Given the description of an element on the screen output the (x, y) to click on. 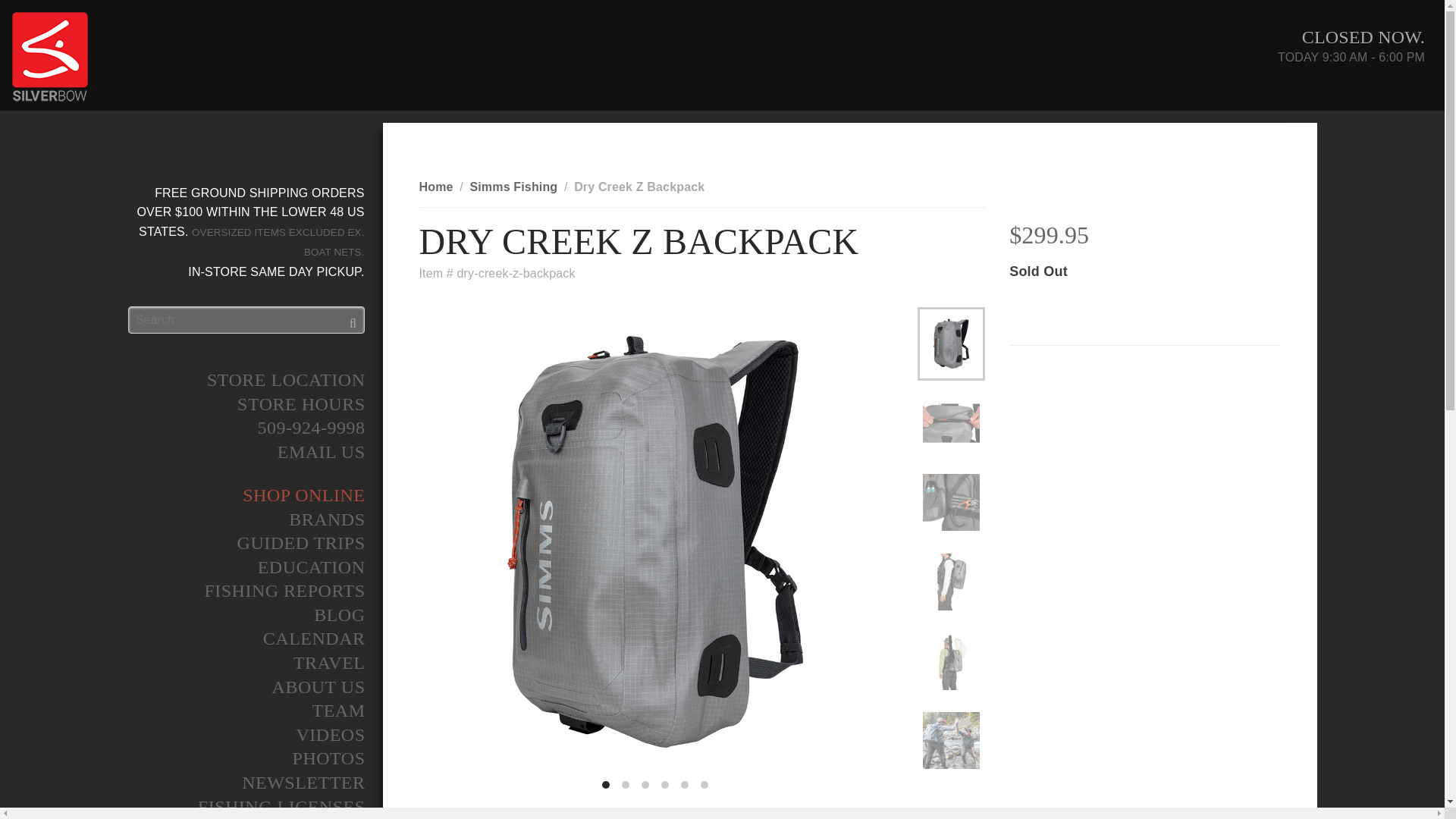
STORE HOURS (245, 404)
SHOP ONLINE (245, 495)
Dry Creek Z Backpack 25 L (951, 343)
Dry Creek Z Backpack 25 L (951, 423)
Dry Creek Z Backpack 25 L (951, 740)
509-924-9998 (245, 428)
EMAIL US (245, 452)
Dry Creek Z Backpack 25 L (951, 661)
Dry Creek Z Backpack 25 L (951, 582)
STORE LOCATION (245, 380)
